Given the description of an element on the screen output the (x, y) to click on. 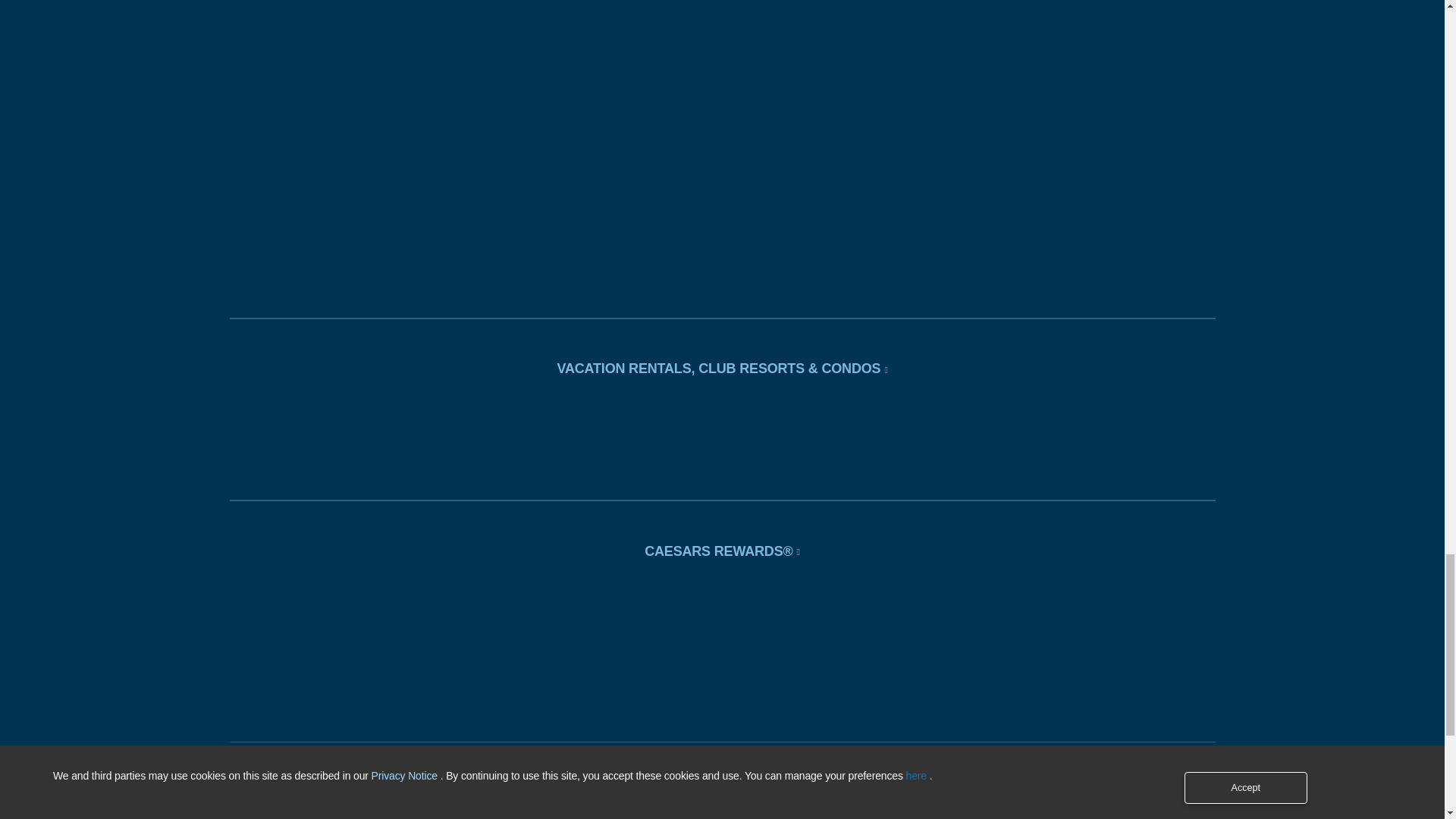
Ramada Worldwide (640, 187)
Wyndham Alltra (803, 129)
Wyndham Garden (640, 22)
Ramada Worldwide (640, 185)
Dazzler by Wyndham (803, 20)
Wyndham Alltra (803, 132)
Howard Johnson (475, 74)
Wyndham Garden (640, 20)
Travelodge (475, 129)
Baymont (640, 129)
